Given the description of an element on the screen output the (x, y) to click on. 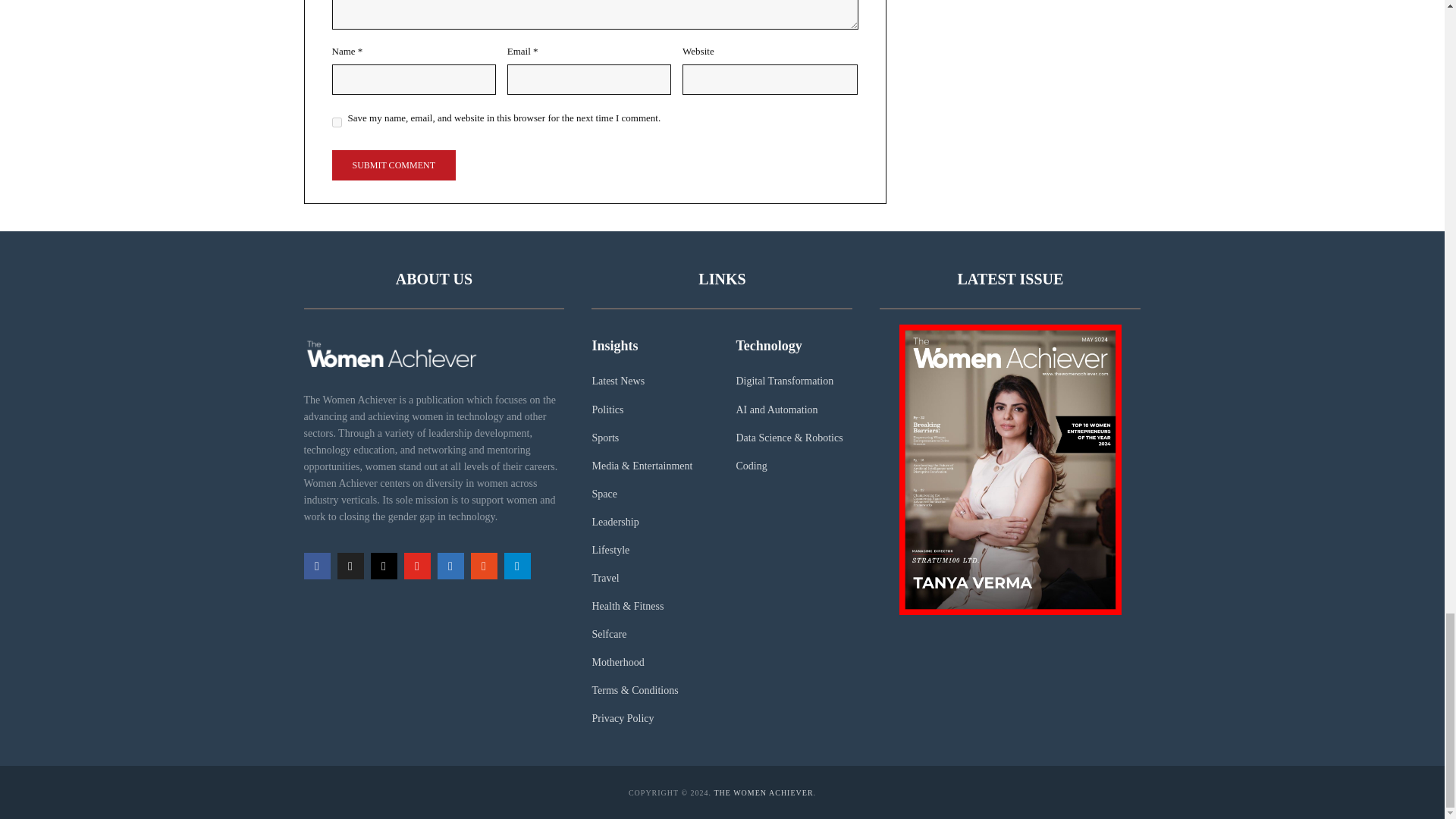
reddit (483, 565)
Instagram (382, 565)
YouTube (416, 565)
Linkedin (449, 565)
Telegram (516, 565)
Facebook (316, 565)
Submit Comment (393, 164)
